Given the description of an element on the screen output the (x, y) to click on. 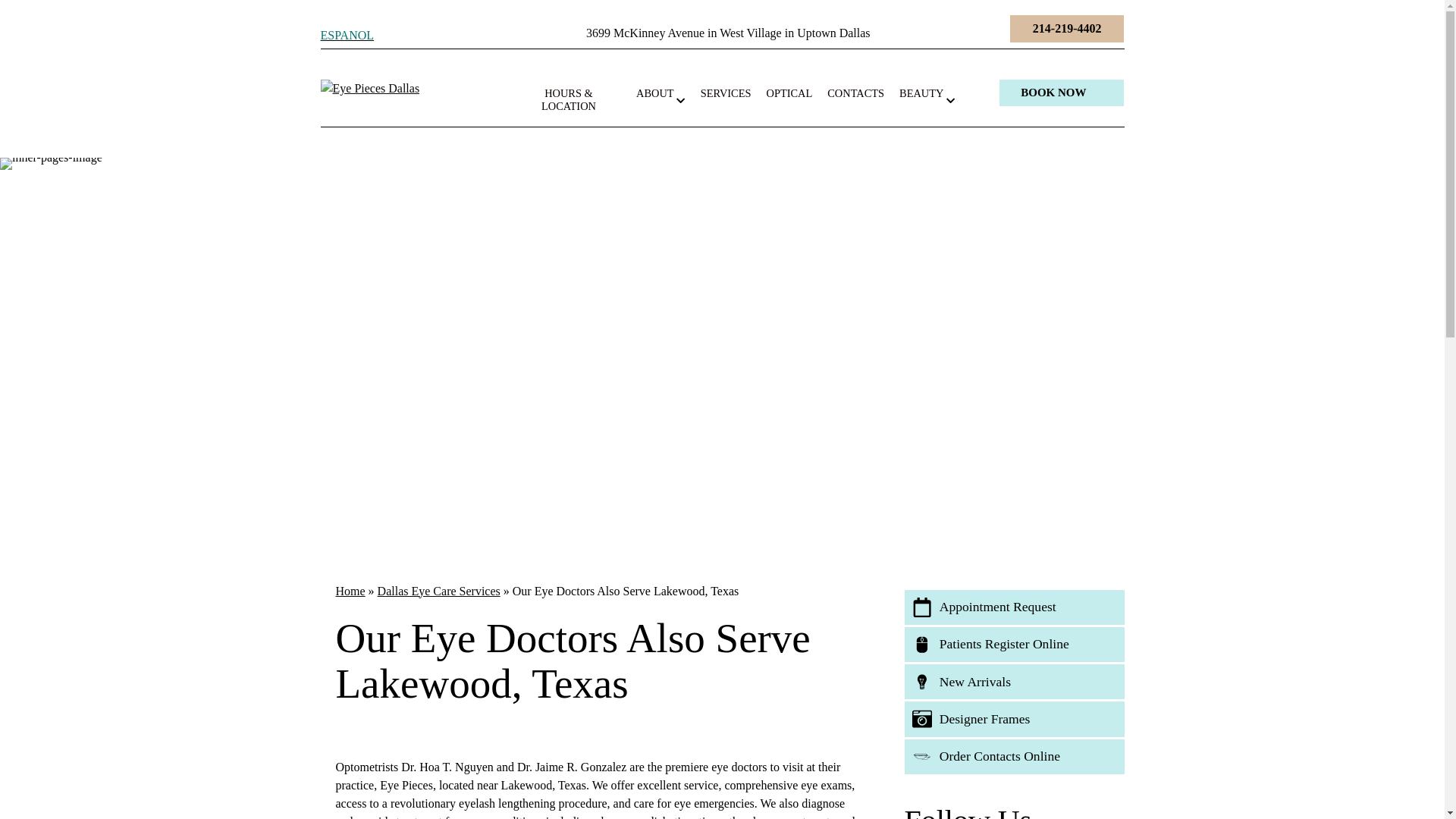
3699 McKinney Avenue in West Village in Uptown Dallas (728, 32)
OPTICAL (788, 93)
ESPANOL (347, 34)
Appointment Request (1014, 606)
Designer Frames (1014, 718)
Order Contacts Online (1014, 756)
Home (349, 590)
New Arrivals (1014, 681)
BOOK NOW (1061, 92)
ABOUT (660, 93)
